Given the description of an element on the screen output the (x, y) to click on. 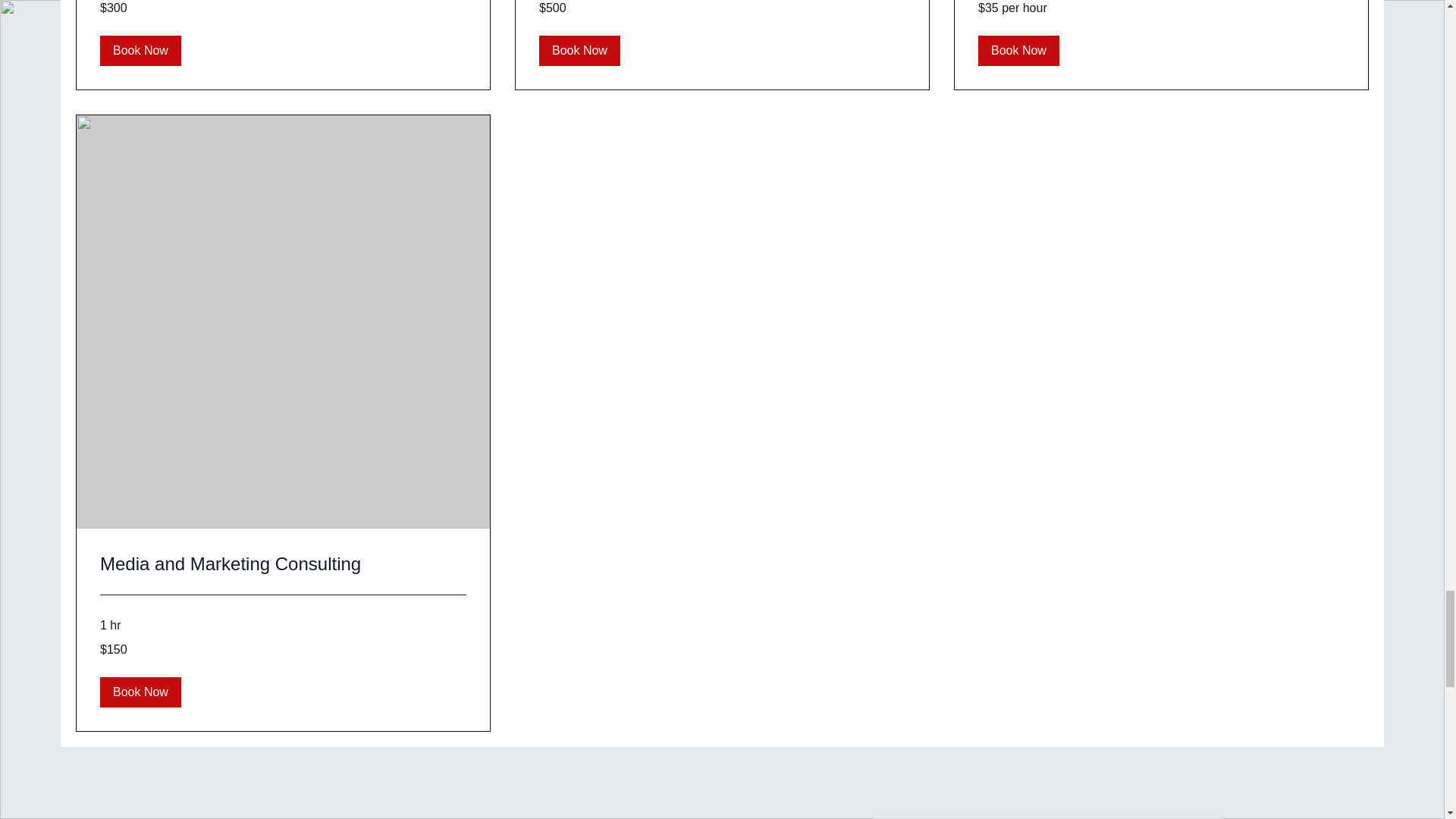
Media and Marketing Consulting (282, 564)
Book Now (1018, 51)
Book Now (140, 692)
Book Now (140, 51)
Book Now (579, 51)
